Given the description of an element on the screen output the (x, y) to click on. 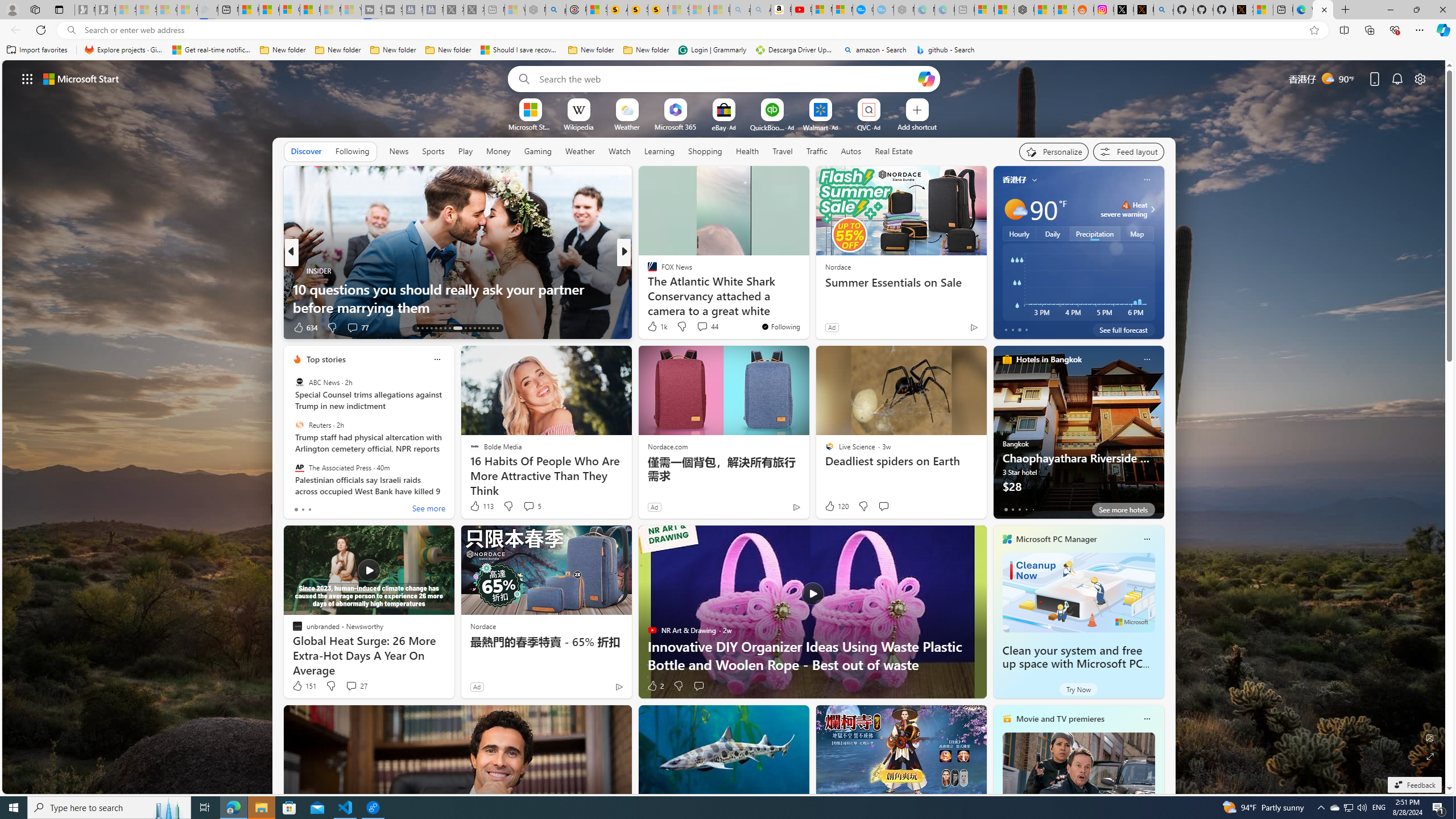
help.x.com | 524: A timeout occurred (1143, 9)
Class: weather-arrow-glyph (1152, 208)
Chaophayathara Riverside Hotel (1078, 436)
151 Like (303, 685)
View comments 3 Comment (698, 327)
AutomationID: tab-21 (457, 328)
Travel (782, 151)
Try Now (1078, 689)
